Given the description of an element on the screen output the (x, y) to click on. 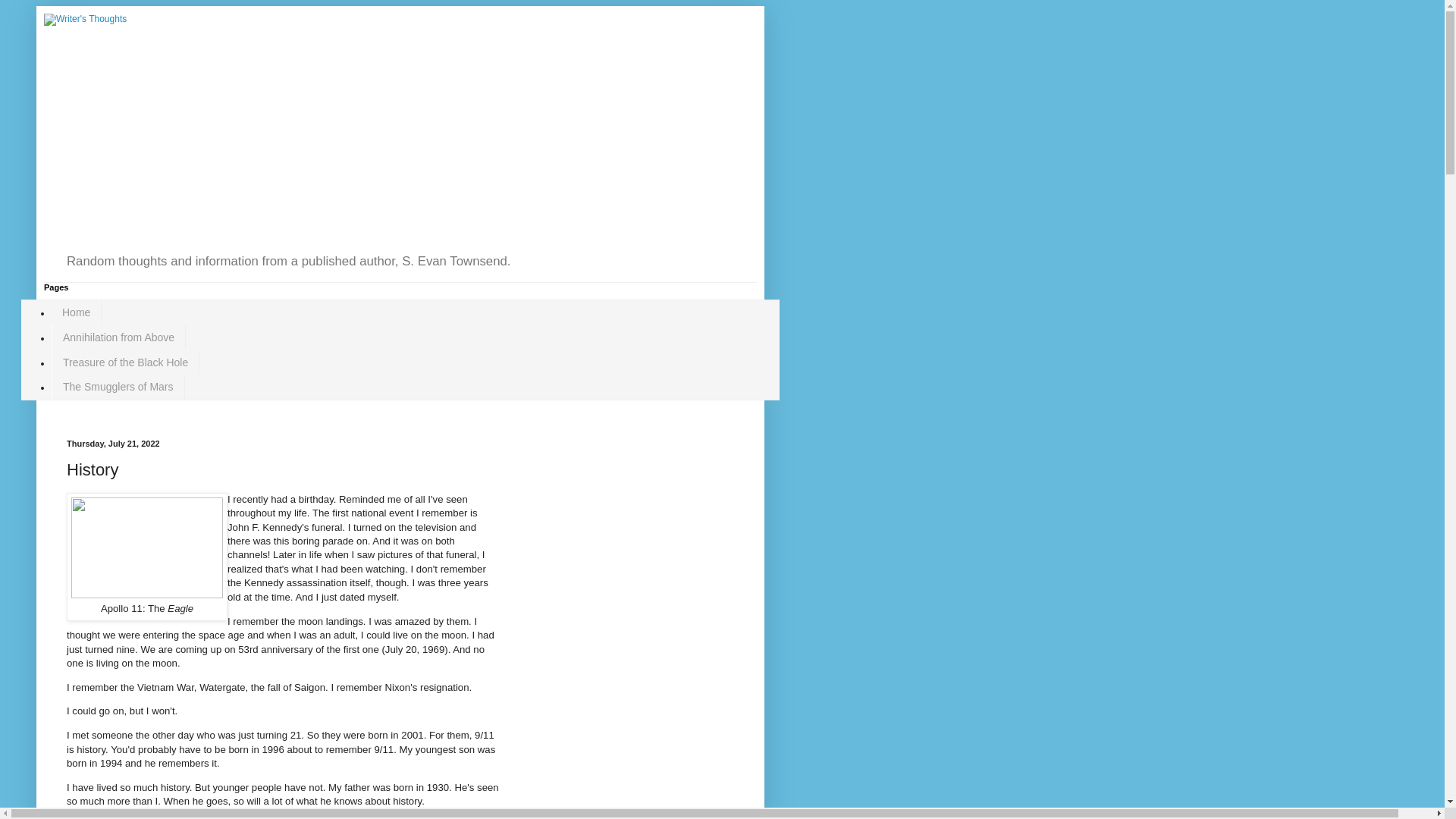
Treasure of the Black Hole (124, 361)
Annihilation from Above (118, 336)
Home (75, 312)
The Smugglers of Mars (117, 386)
